Given the description of an element on the screen output the (x, y) to click on. 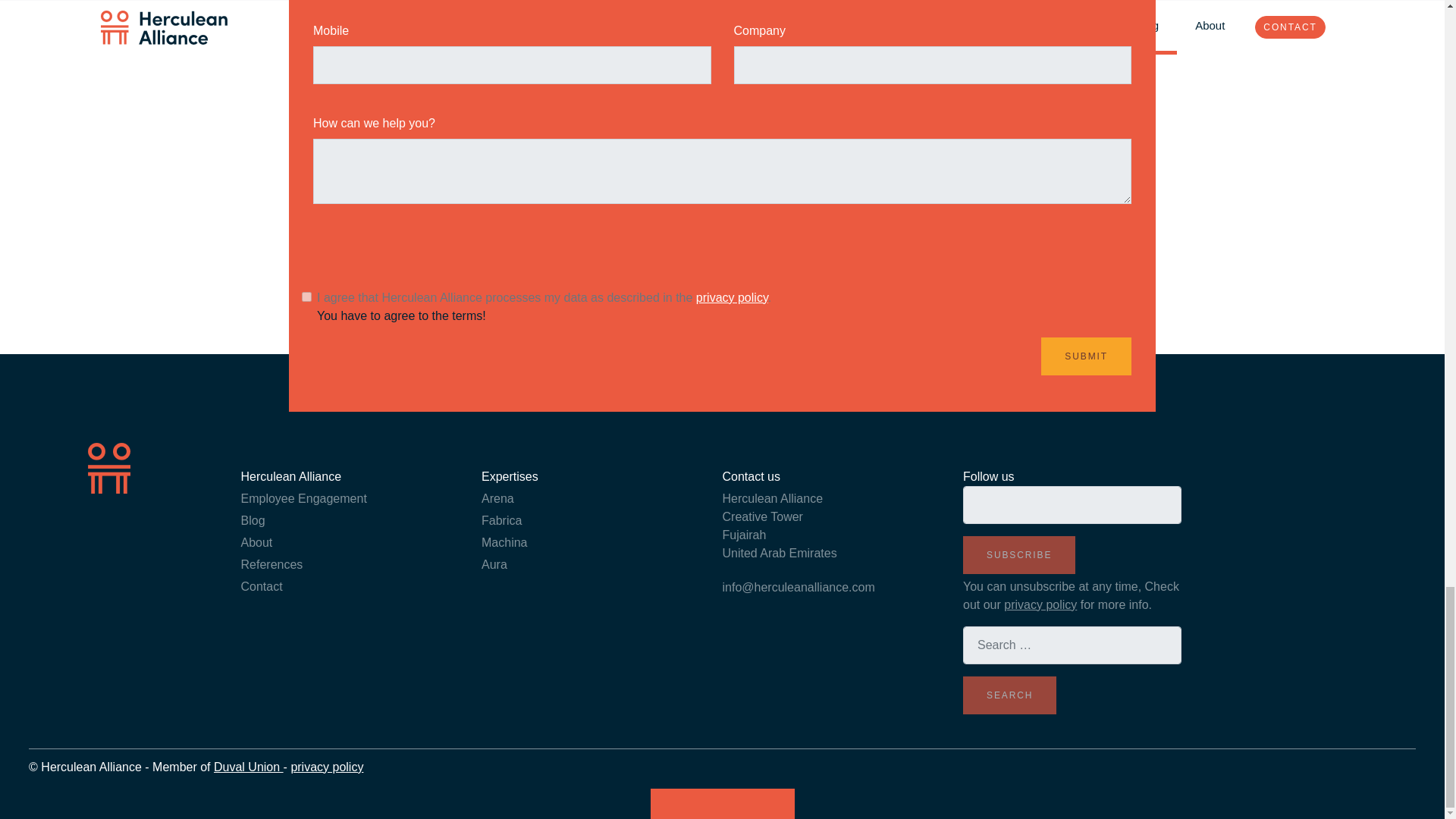
privacy policy (731, 297)
Fabrica (501, 520)
Search (1009, 695)
ok (306, 296)
privacy policy (325, 766)
SUBSCRIBE (1018, 555)
Blog (252, 520)
privacy policy (1040, 604)
SUBMIT (1086, 356)
Duval Union (248, 766)
Aura (493, 563)
Search (1009, 695)
Search (1009, 695)
References (271, 563)
About (257, 542)
